Given the description of an element on the screen output the (x, y) to click on. 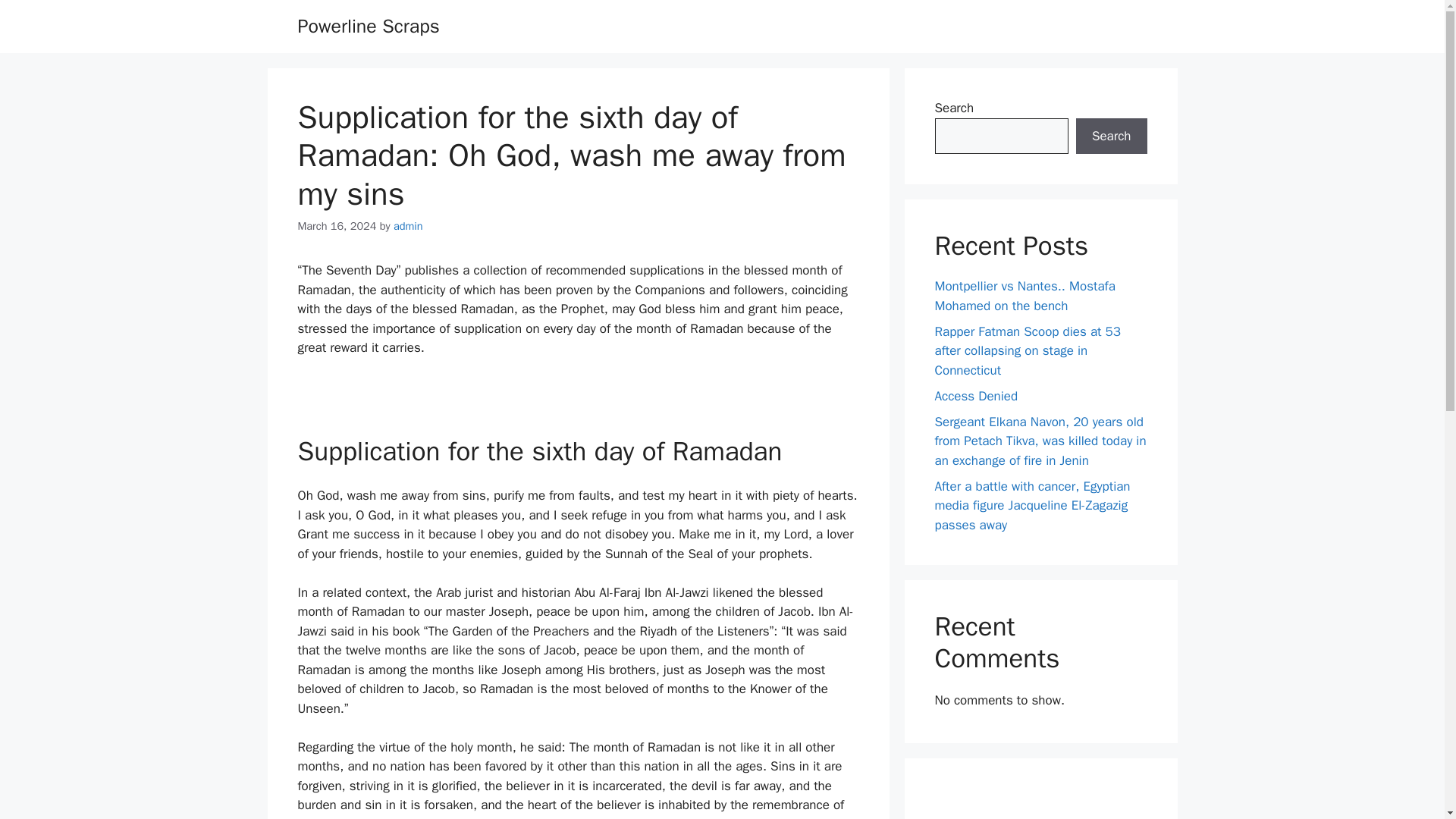
Montpellier vs Nantes.. Mostafa Mohamed on the bench (1024, 295)
View all posts by admin (408, 225)
Access Denied (975, 396)
Search (1111, 135)
Powerline Scraps (368, 25)
admin (408, 225)
